Given the description of an element on the screen output the (x, y) to click on. 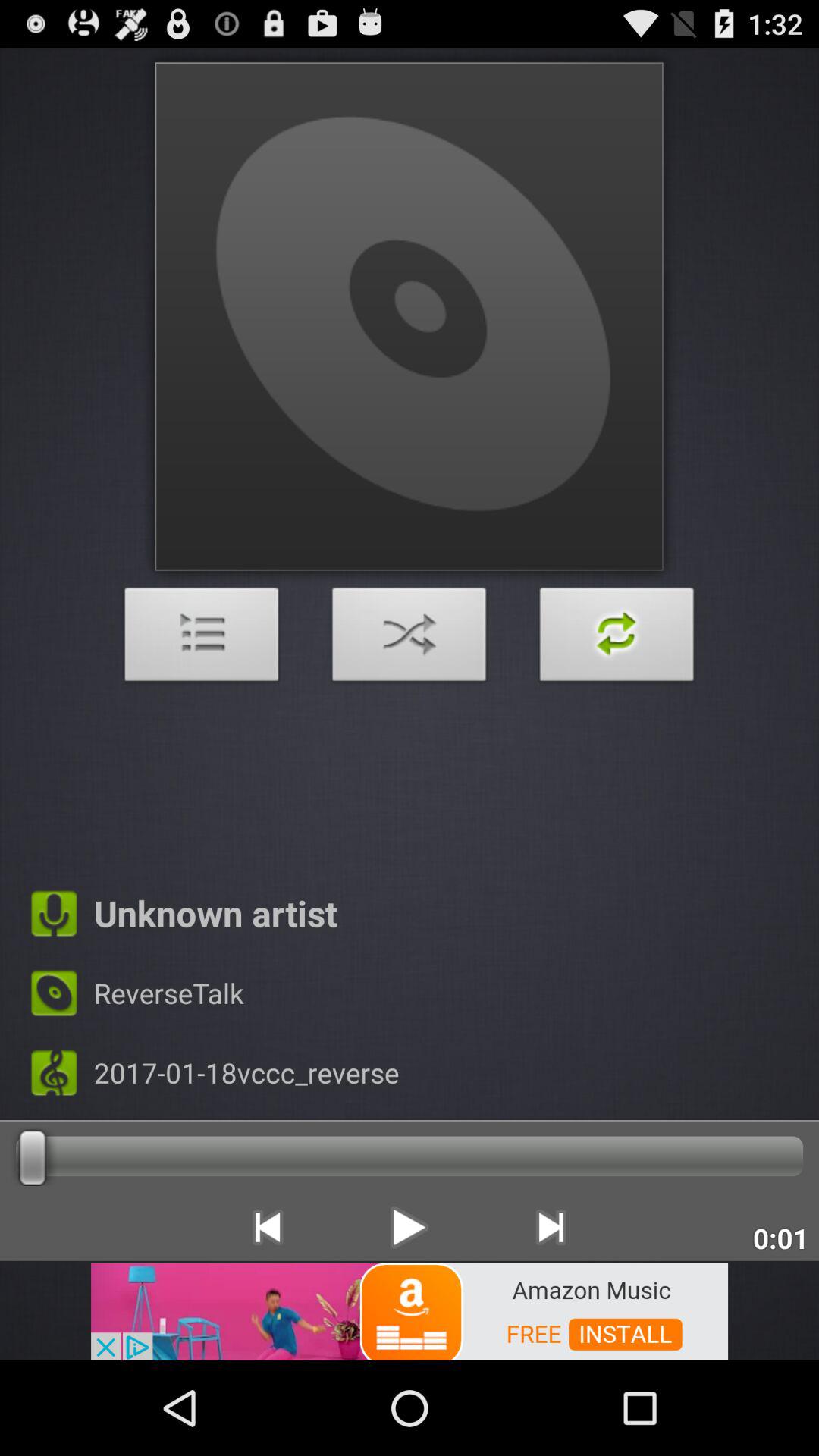
go to refresh (616, 638)
